Given the description of an element on the screen output the (x, y) to click on. 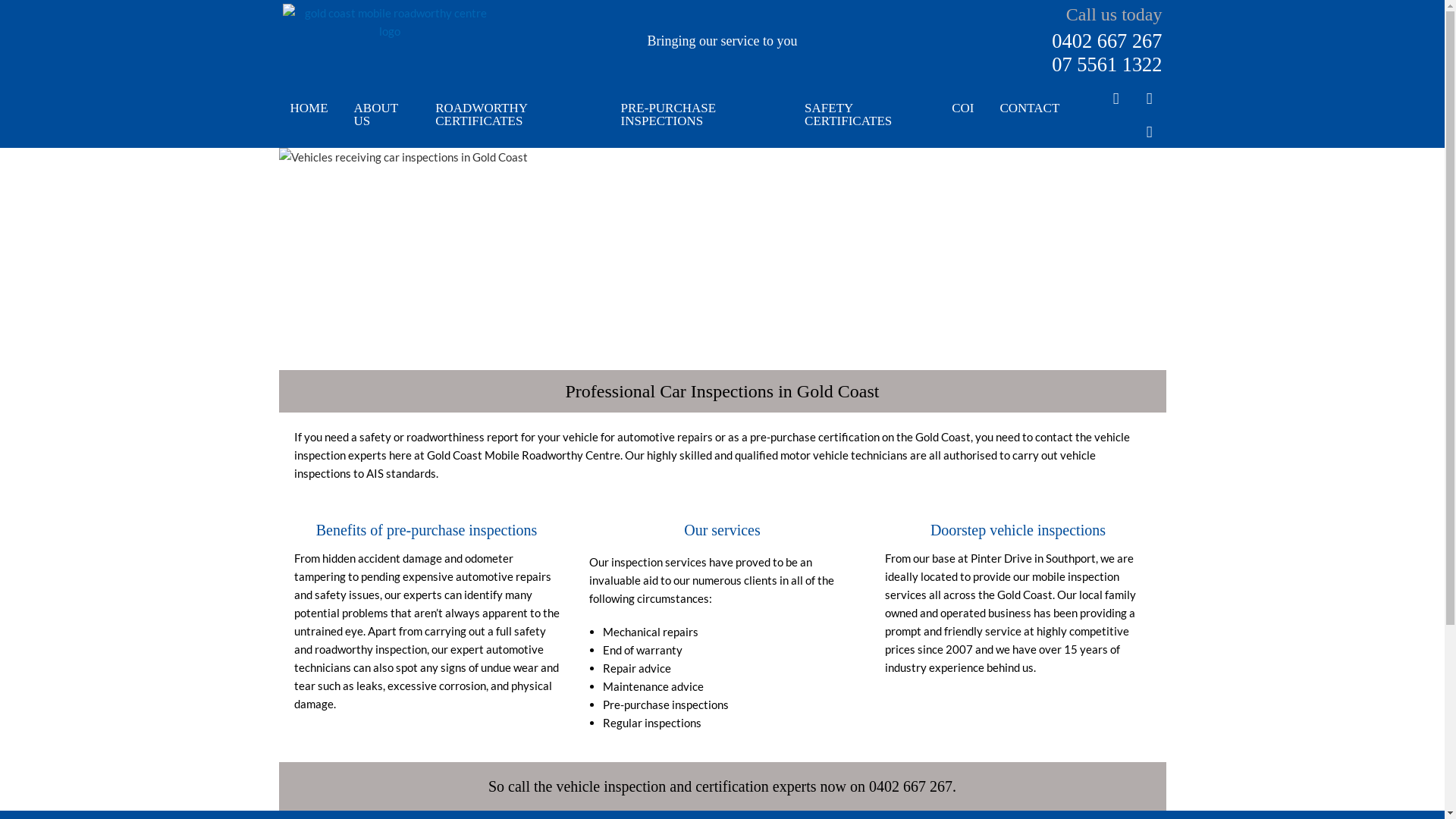
ABOUT US Element type: text (382, 114)
0402 667 267 Element type: text (1106, 40)
HOME Element type: text (308, 107)
gold coast mobile roadworthy centre logo Element type: hover (389, 21)
07 5561 1322 Element type: text (1106, 64)
SAFETY CERTIFICATES Element type: text (864, 114)
COI Element type: text (962, 107)
CONTACT Element type: text (1029, 107)
ROADWORTHY CERTIFICATES Element type: text (514, 114)
PRE-PURCHASE INSPECTIONS Element type: text (700, 114)
gold coast mobile roadworthy centre repair cars on workshop Element type: hover (722, 258)
0402 667 267 Element type: text (910, 786)
